Given the description of an element on the screen output the (x, y) to click on. 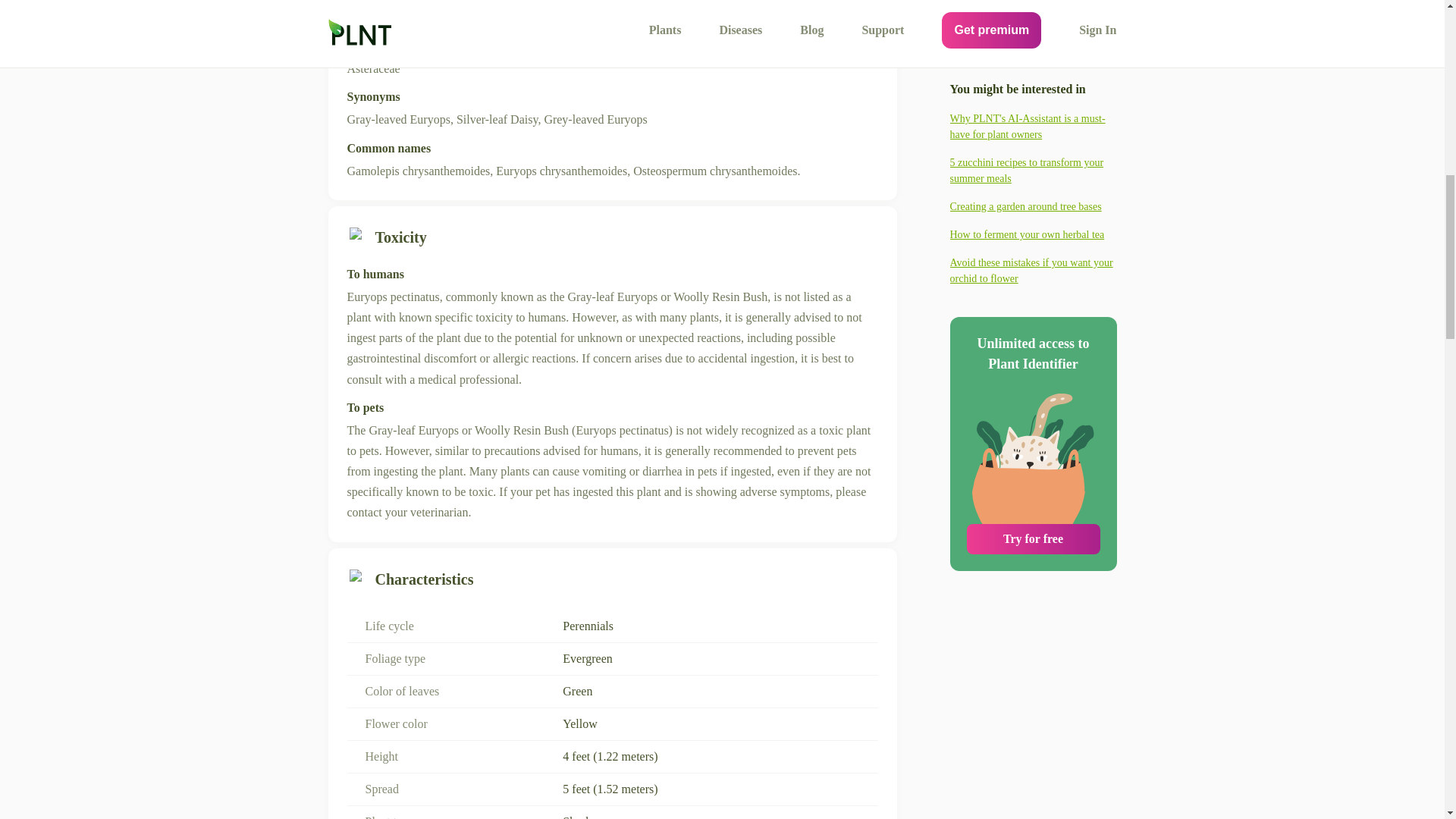
How to ferment your own herbal tea (1032, 7)
Try for free (1032, 311)
Avoid these mistakes if you want your orchid to flower (1032, 42)
